Given the description of an element on the screen output the (x, y) to click on. 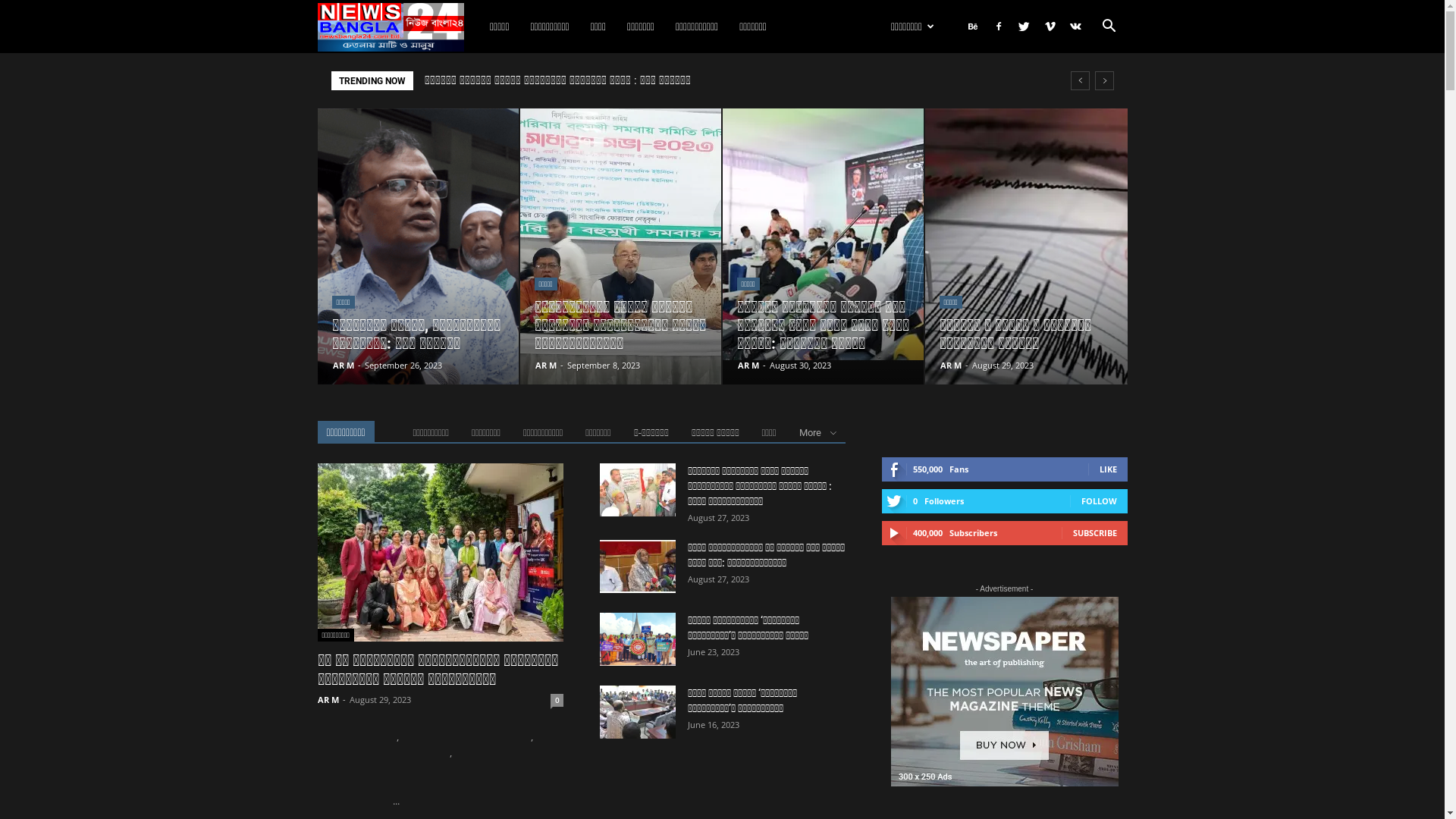
AR M Element type: text (342, 364)
SUBSCRIBE Element type: text (1094, 532)
AR M Element type: text (747, 364)
Vimeo Element type: hover (1049, 26)
VKontakte Element type: hover (1075, 26)
LIKE Element type: text (1108, 468)
0 Element type: text (556, 699)
AR M Element type: text (545, 364)
AR M Element type: text (950, 364)
Search Element type: text (1083, 96)
Behance Element type: hover (972, 26)
News Bangla24 Element type: hover (389, 26)
Twitter Element type: hover (1024, 26)
Facebook Element type: hover (998, 26)
News Bangla Element type: text (397, 26)
AR M Element type: text (327, 699)
FOLLOW Element type: text (1099, 500)
